Given the description of an element on the screen output the (x, y) to click on. 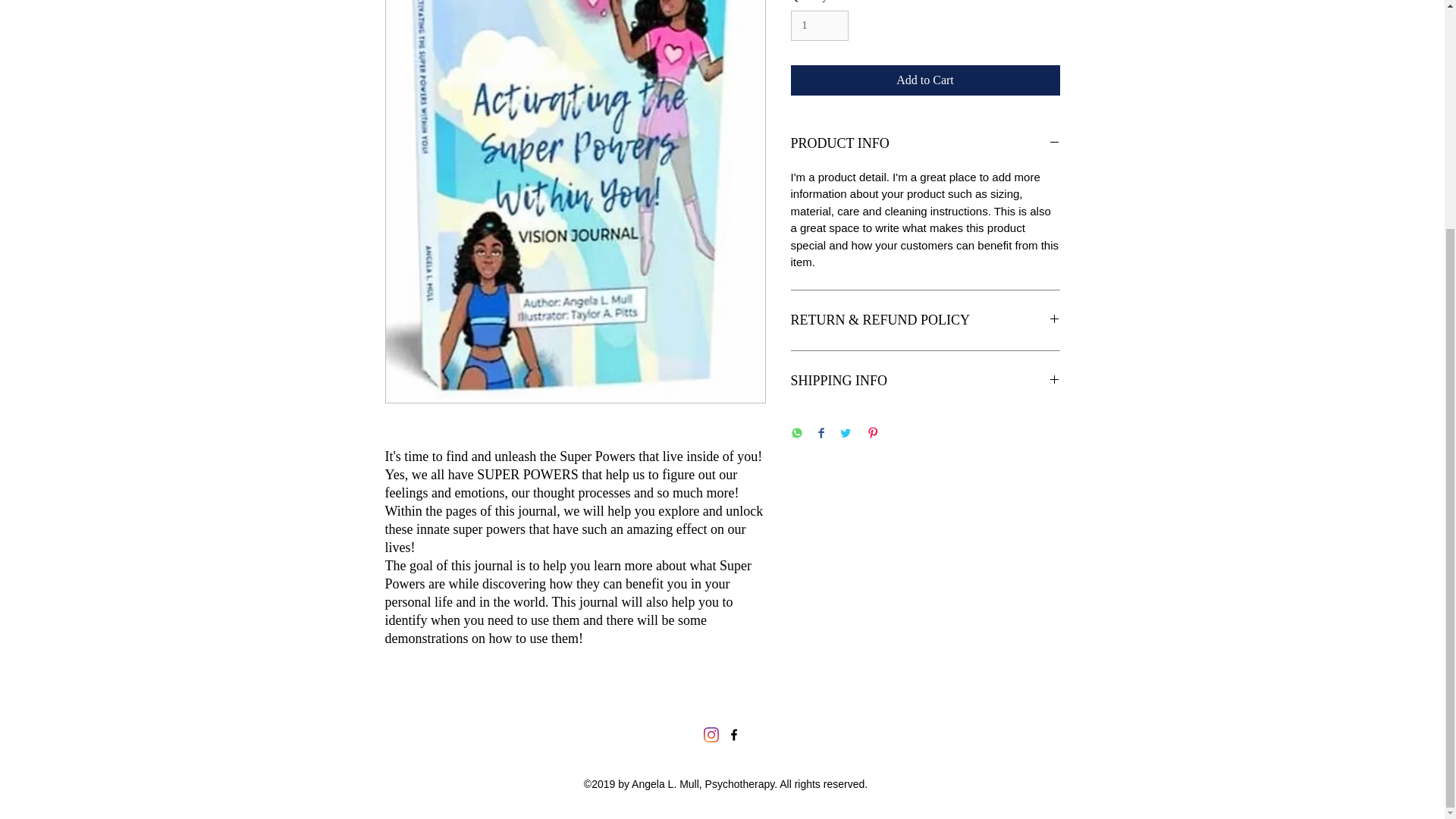
SHIPPING INFO (924, 381)
PRODUCT INFO (924, 143)
1 (818, 25)
Add to Cart (924, 80)
